Given the description of an element on the screen output the (x, y) to click on. 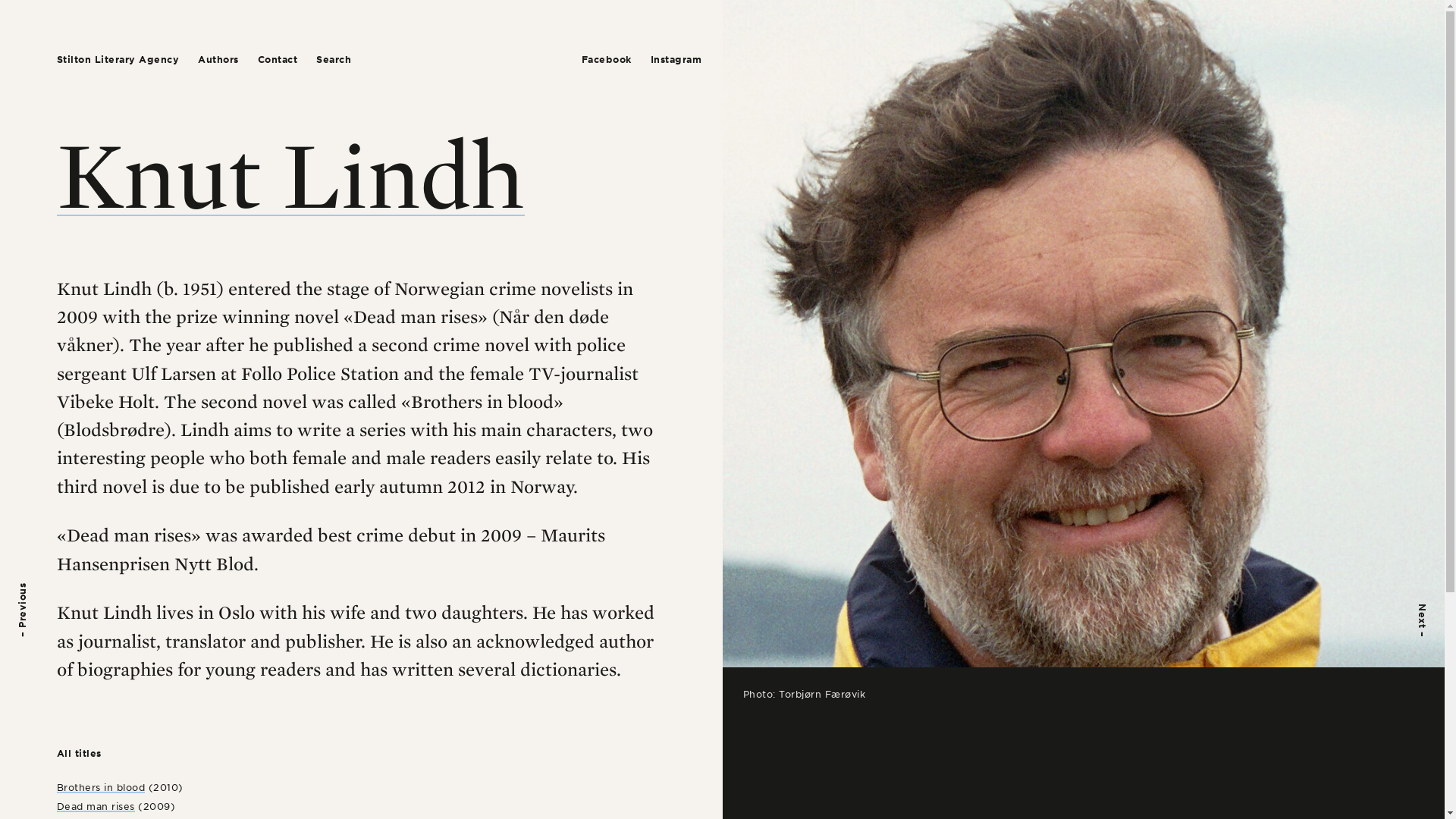
Brothers in blood (100, 787)
Authors (218, 59)
Contact (277, 59)
Knut Lindh (290, 173)
Stilton Literary Agency (117, 59)
Facebook (605, 59)
Dead man rises (95, 806)
Instagram (675, 59)
Search (332, 59)
